Given the description of an element on the screen output the (x, y) to click on. 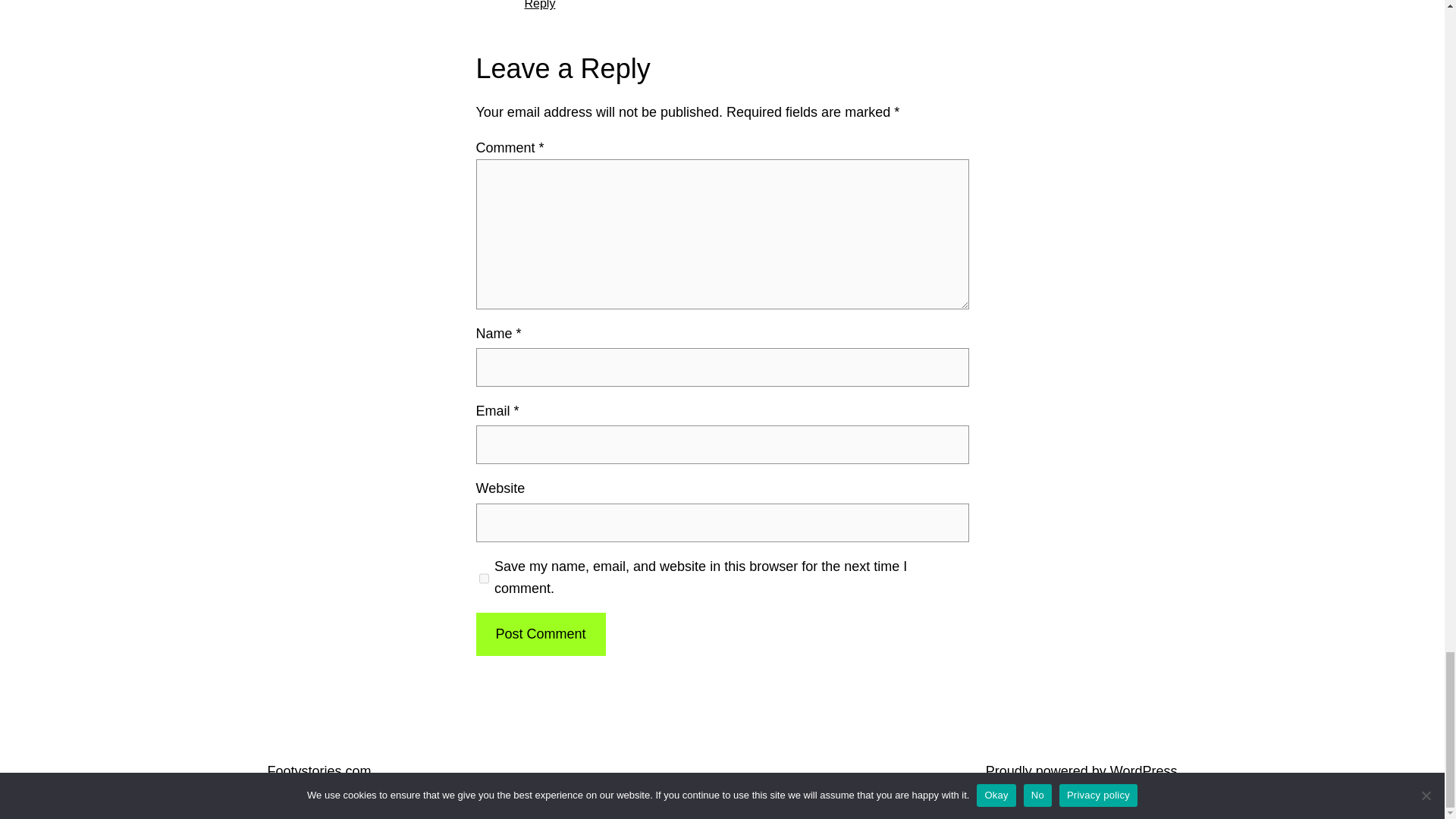
WordPress (1143, 770)
Footystories.com (318, 770)
Reply (540, 4)
Post Comment (540, 634)
Post Comment (540, 634)
